Given the description of an element on the screen output the (x, y) to click on. 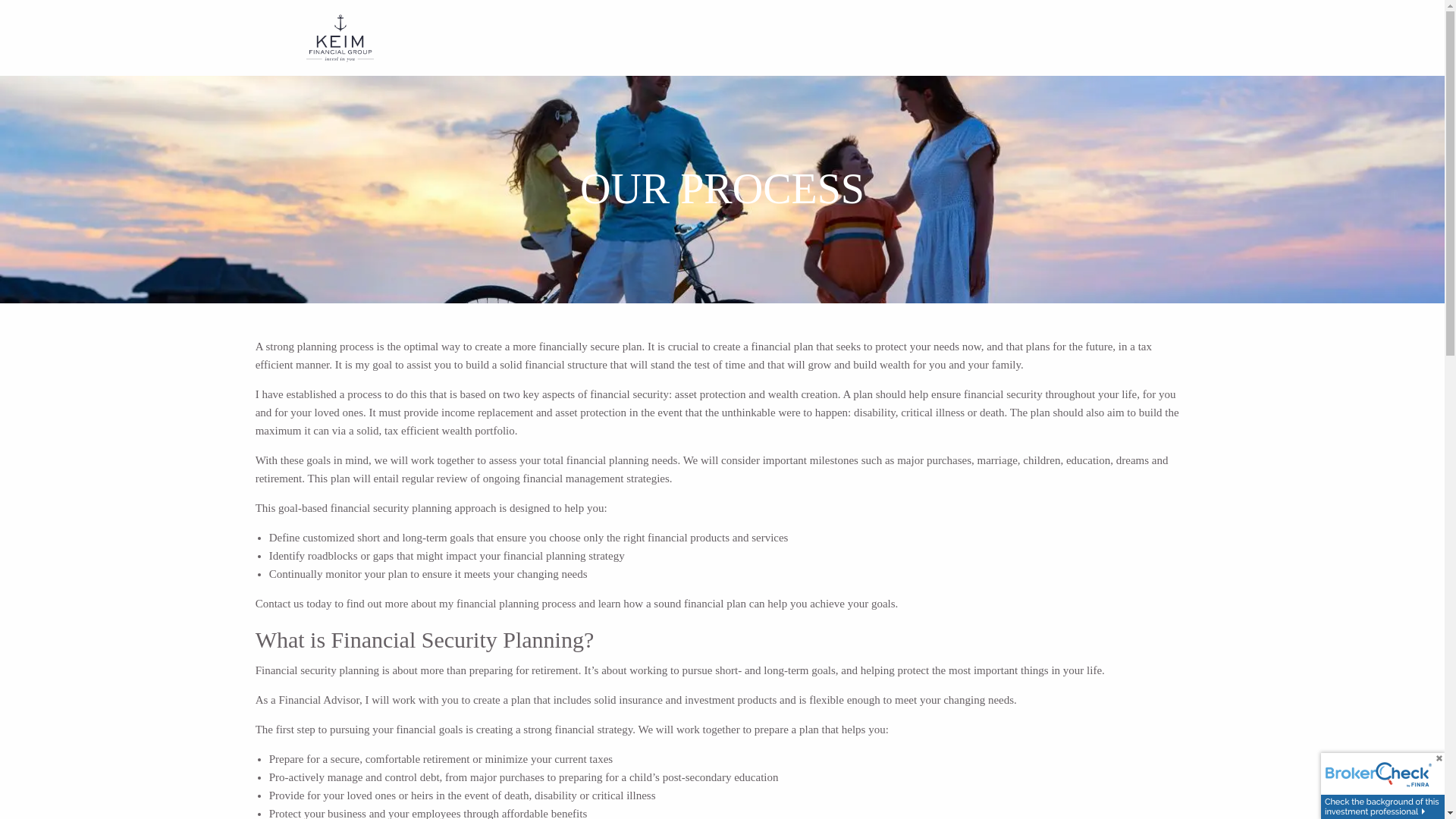
Contact us today (293, 603)
